Given the description of an element on the screen output the (x, y) to click on. 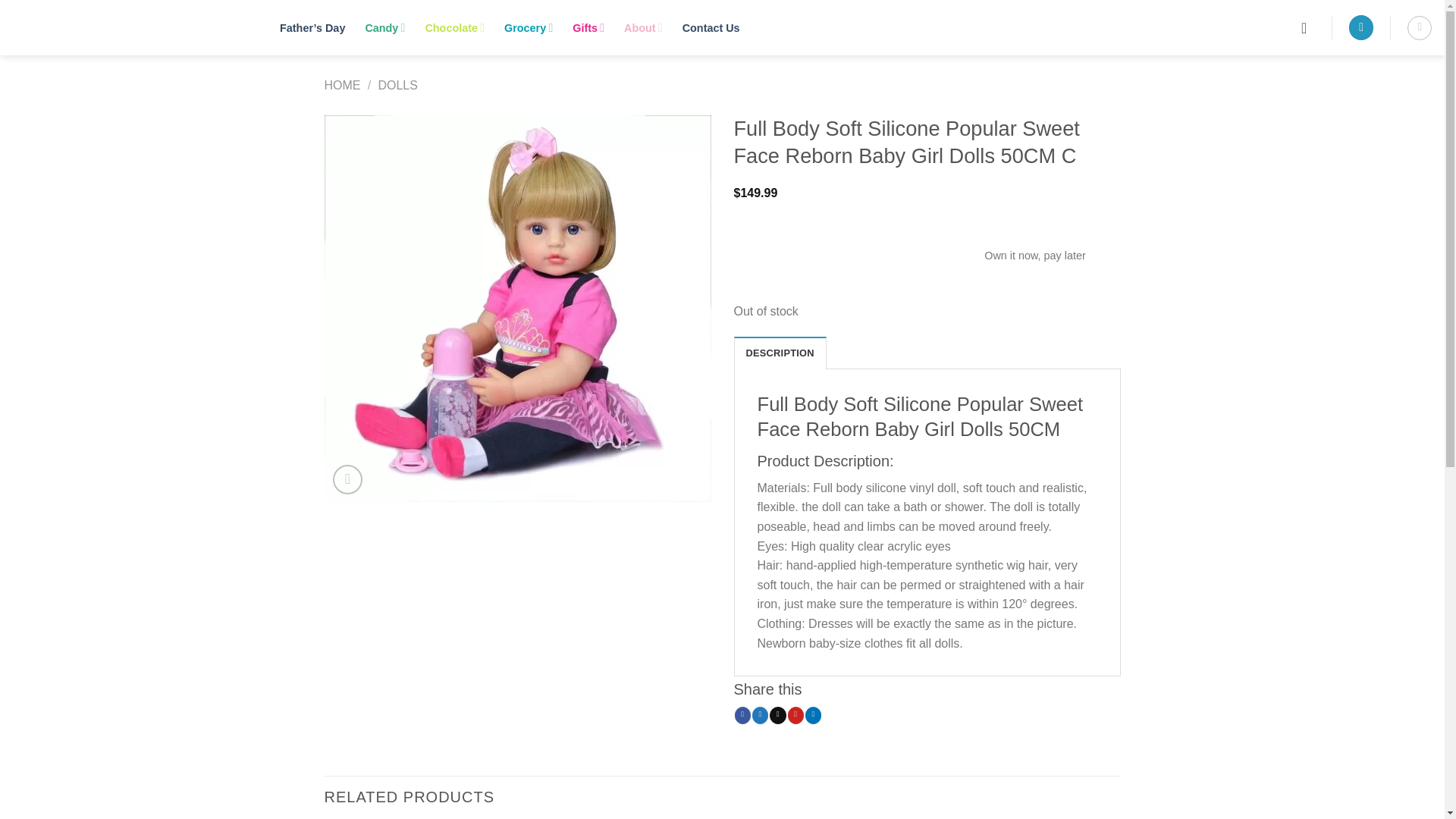
About (643, 27)
Chocolate (454, 27)
Candy (384, 27)
Email to a Friend (778, 714)
Gifts (588, 27)
Share on LinkedIn (813, 714)
Contact Us (710, 26)
Pin on Pinterest (795, 714)
Share on Twitter (760, 714)
